Given the description of an element on the screen output the (x, y) to click on. 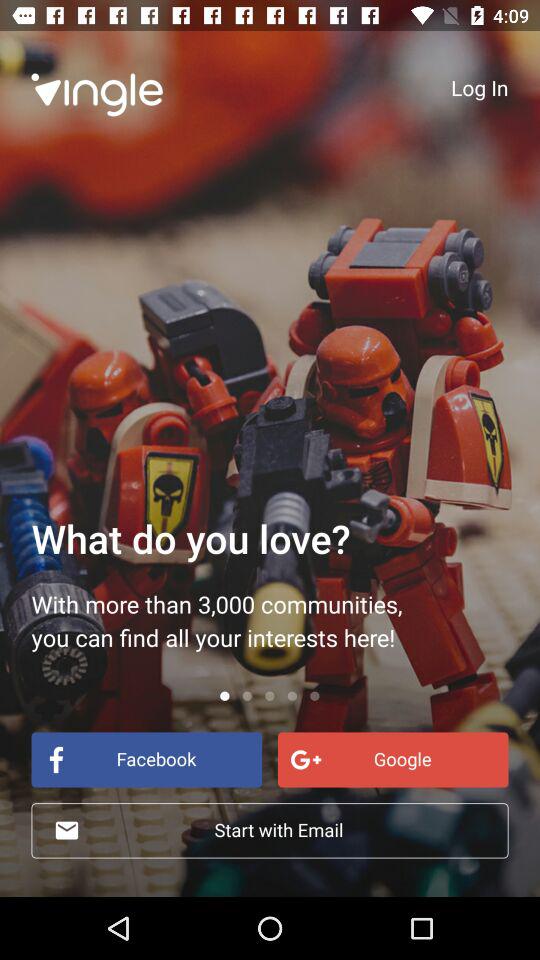
choose google at the bottom right corner (392, 759)
